Given the description of an element on the screen output the (x, y) to click on. 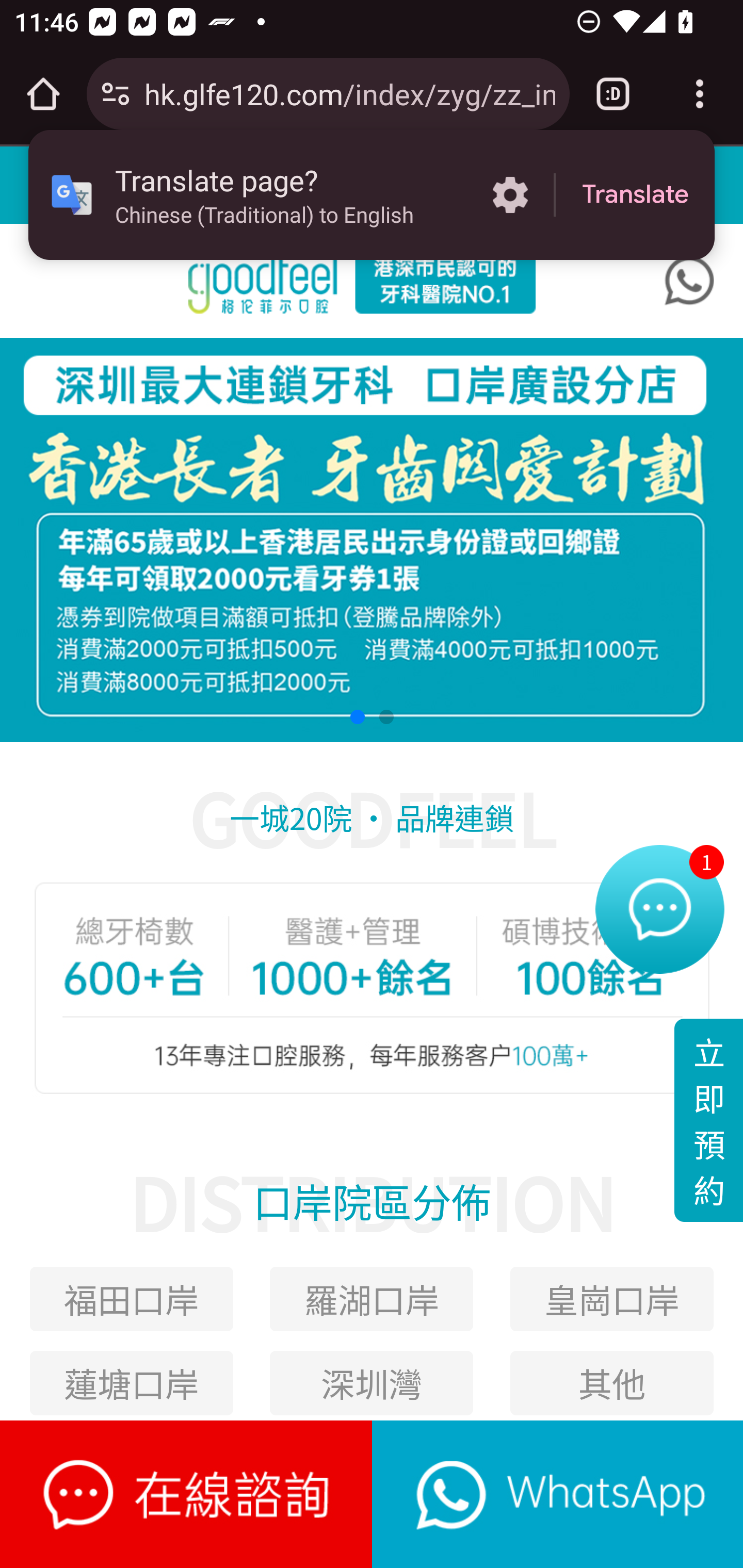
Open the home page (43, 93)
Connection is secure (115, 93)
Switch or close tabs (612, 93)
Customize and control Google Chrome (699, 93)
Translate (634, 195)
More options in the Translate page? (509, 195)
692056bef1a6f9a01fd225b4096c9e5f (689, 280)
1 fixed_swt_icon_1 1 (659, 914)
立 即 預 約 立 即 預 約 (708, 1120)
福田口岸 (131, 1298)
羅湖口岸 (371, 1298)
皇崗口岸 (611, 1298)
蓮塘口岸 (131, 1382)
深圳灣 (371, 1382)
其他 (612, 1382)
javascript:lrminiMax(); (186, 1493)
javascript:addMessage(); (557, 1493)
